Given the description of an element on the screen output the (x, y) to click on. 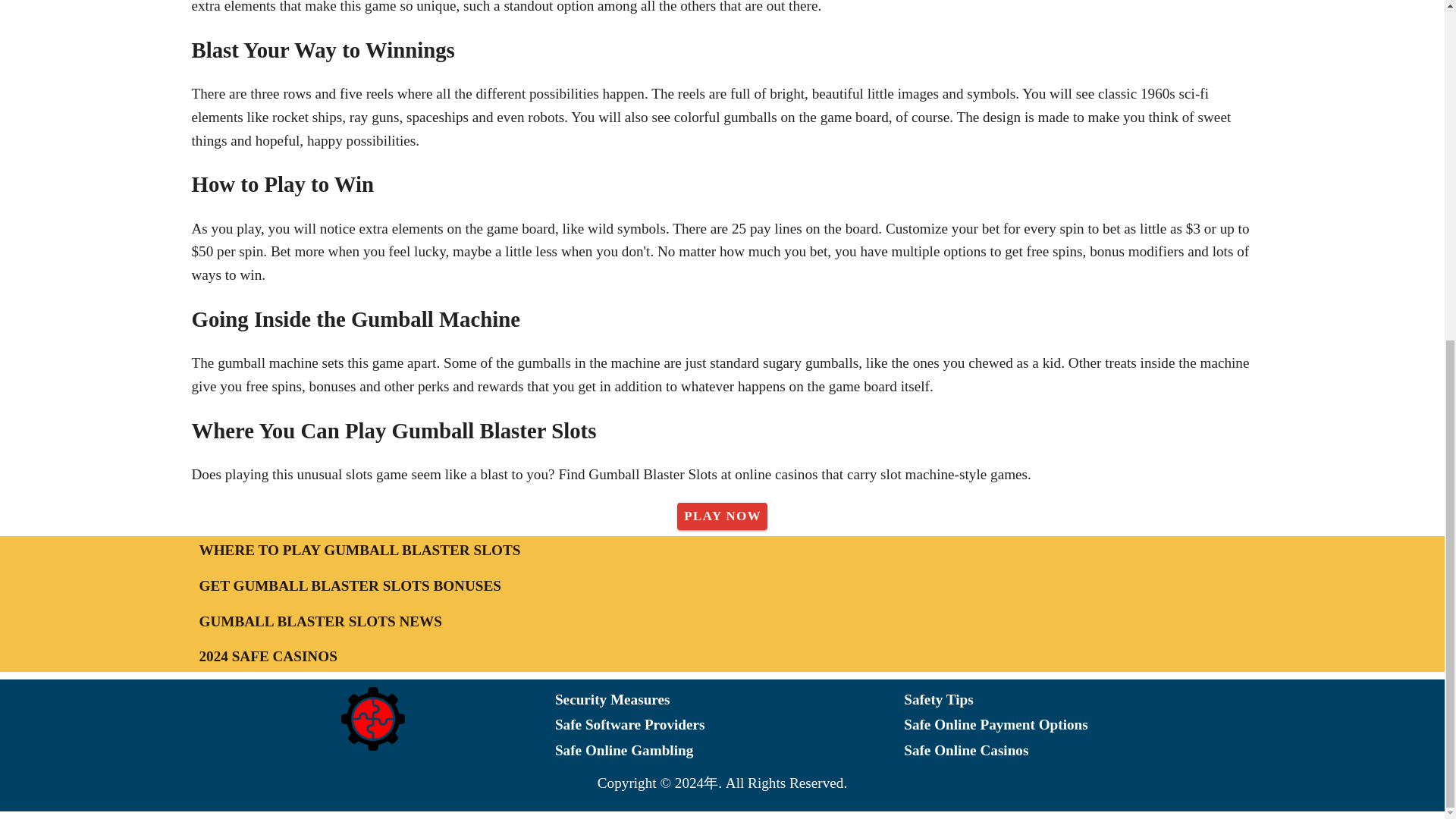
PLAY NOW (722, 515)
Safety Tips (1078, 700)
Security Measures (729, 700)
Safe Online Payment Options (1078, 725)
Safe Software Providers (729, 725)
Safe Online Gambling (729, 751)
Safe Online Casinos (1078, 751)
